Given the description of an element on the screen output the (x, y) to click on. 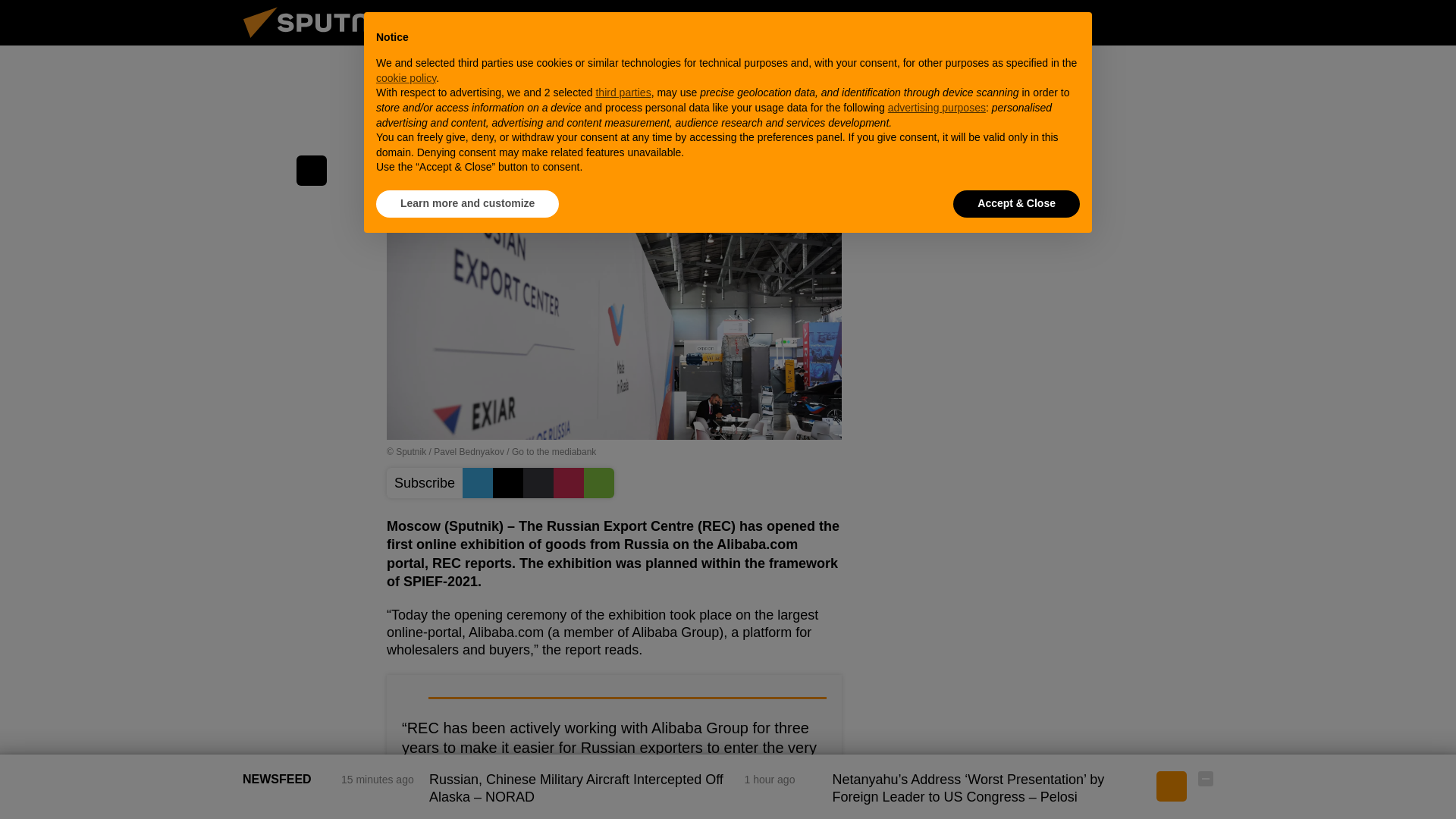
Authorization (1129, 22)
Chats (1206, 22)
Sputnik International (325, 41)
